Given the description of an element on the screen output the (x, y) to click on. 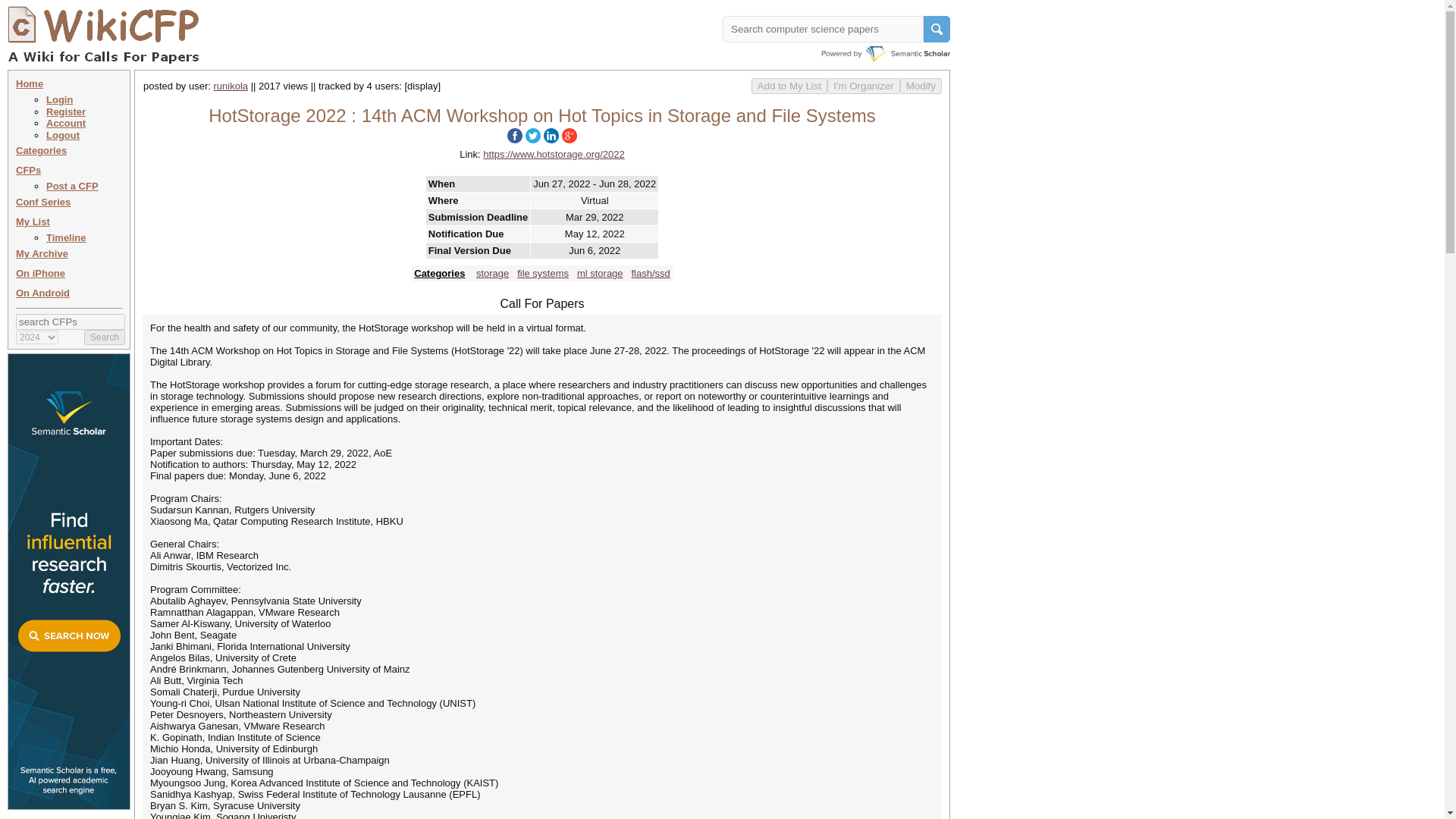
Conf Series (42, 202)
storage (492, 273)
Register (65, 111)
Post a CFP (72, 185)
Modify (920, 85)
Search (104, 337)
display (422, 85)
Modify (920, 85)
My Archive (42, 253)
Account (65, 122)
